Given the description of an element on the screen output the (x, y) to click on. 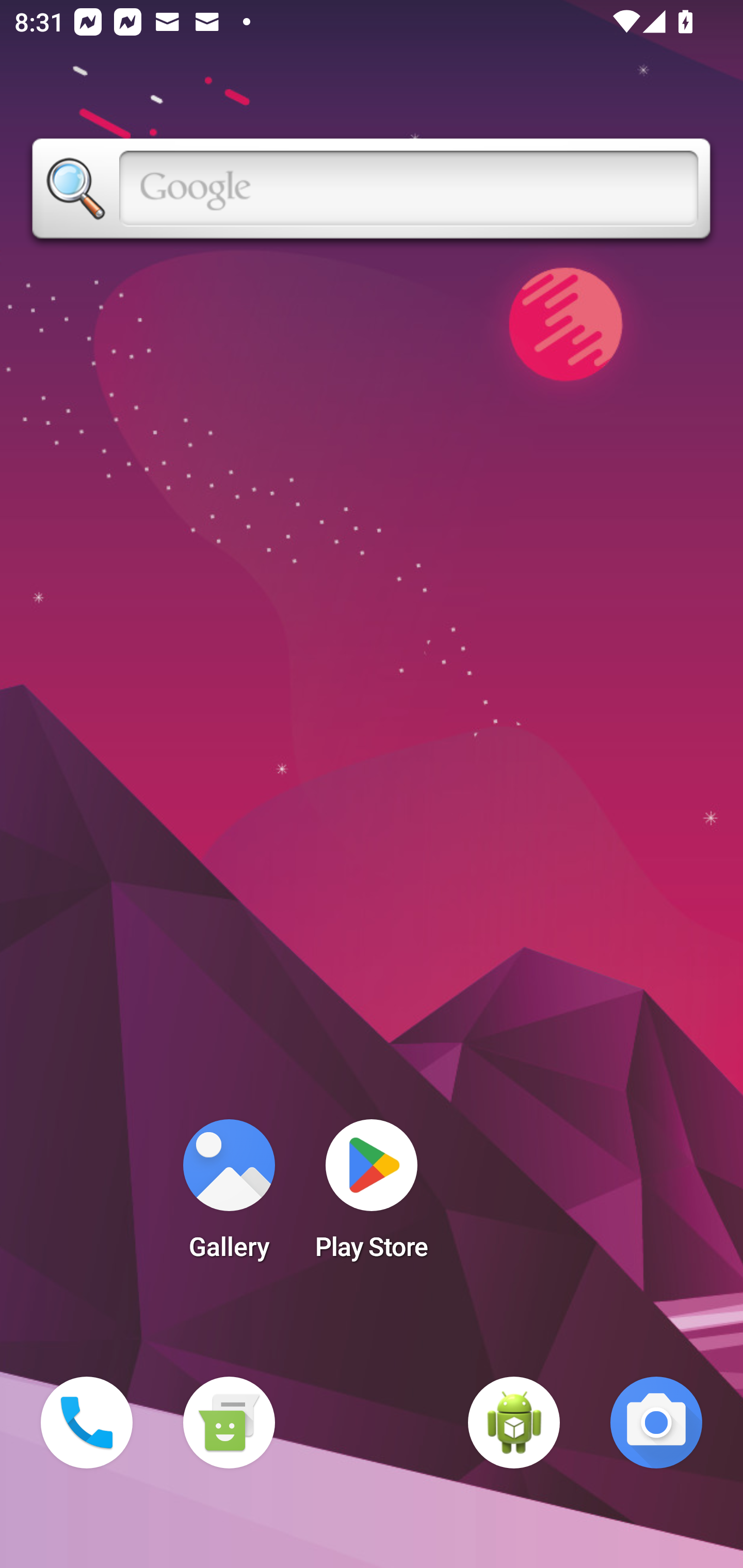
Gallery (228, 1195)
Play Store (371, 1195)
Phone (86, 1422)
Messaging (228, 1422)
WebView Browser Tester (513, 1422)
Camera (656, 1422)
